Given the description of an element on the screen output the (x, y) to click on. 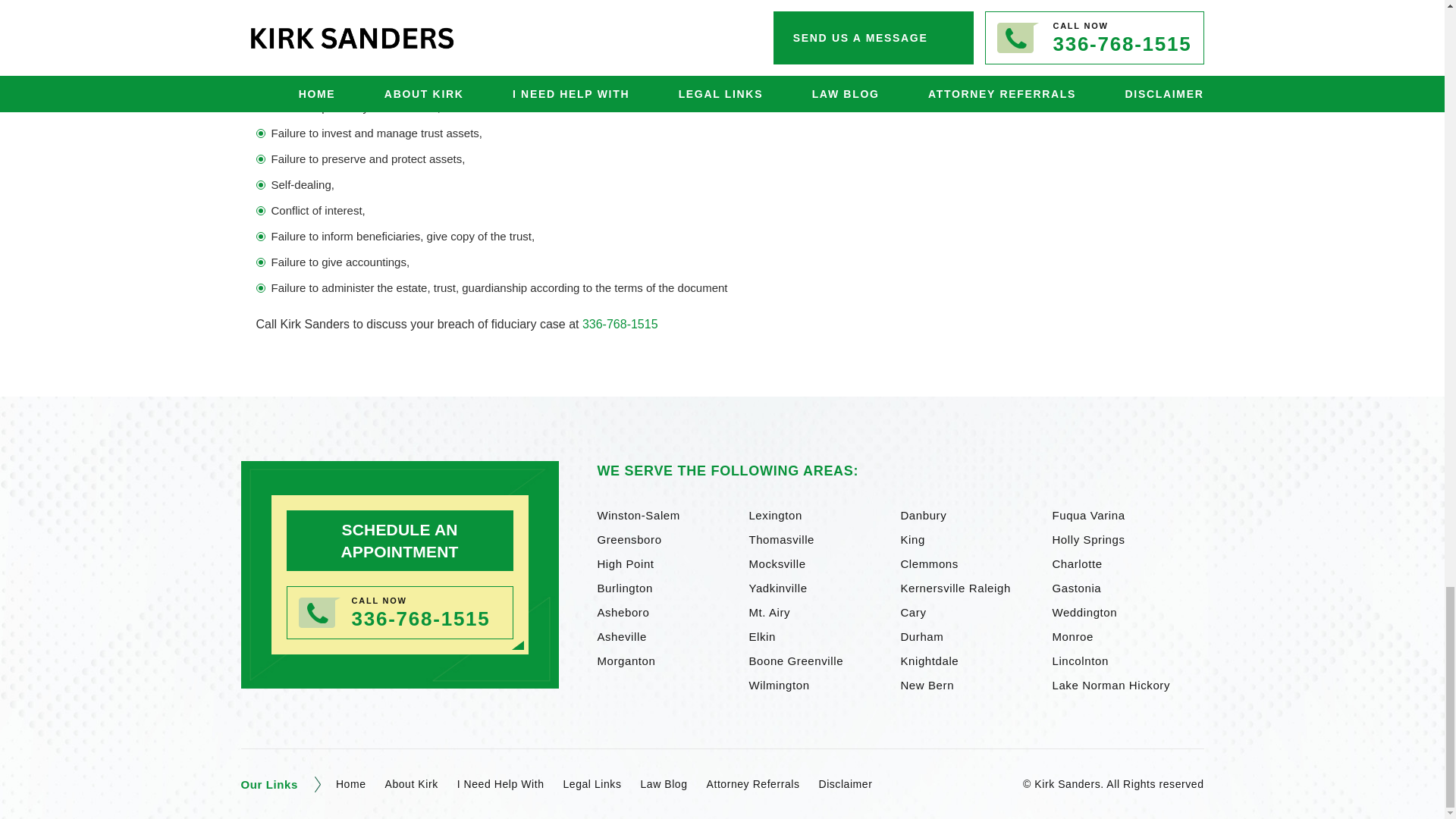
High Point (672, 563)
336-768-1515 (620, 323)
Winston-Salem (672, 515)
Greensboro (672, 539)
336-768-1515 (421, 618)
SCHEDULE AN APPOINTMENT (399, 540)
